Given the description of an element on the screen output the (x, y) to click on. 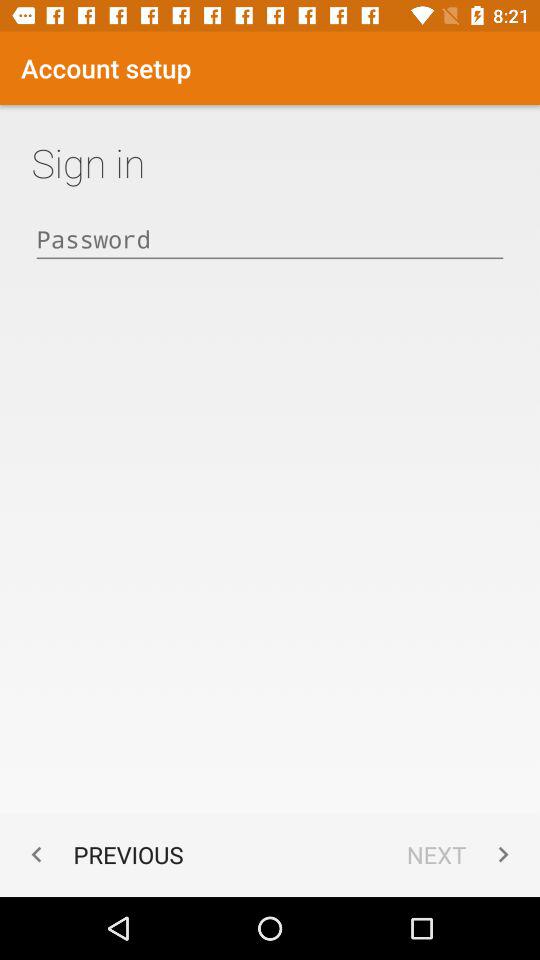
tap previous item (102, 854)
